Given the description of an element on the screen output the (x, y) to click on. 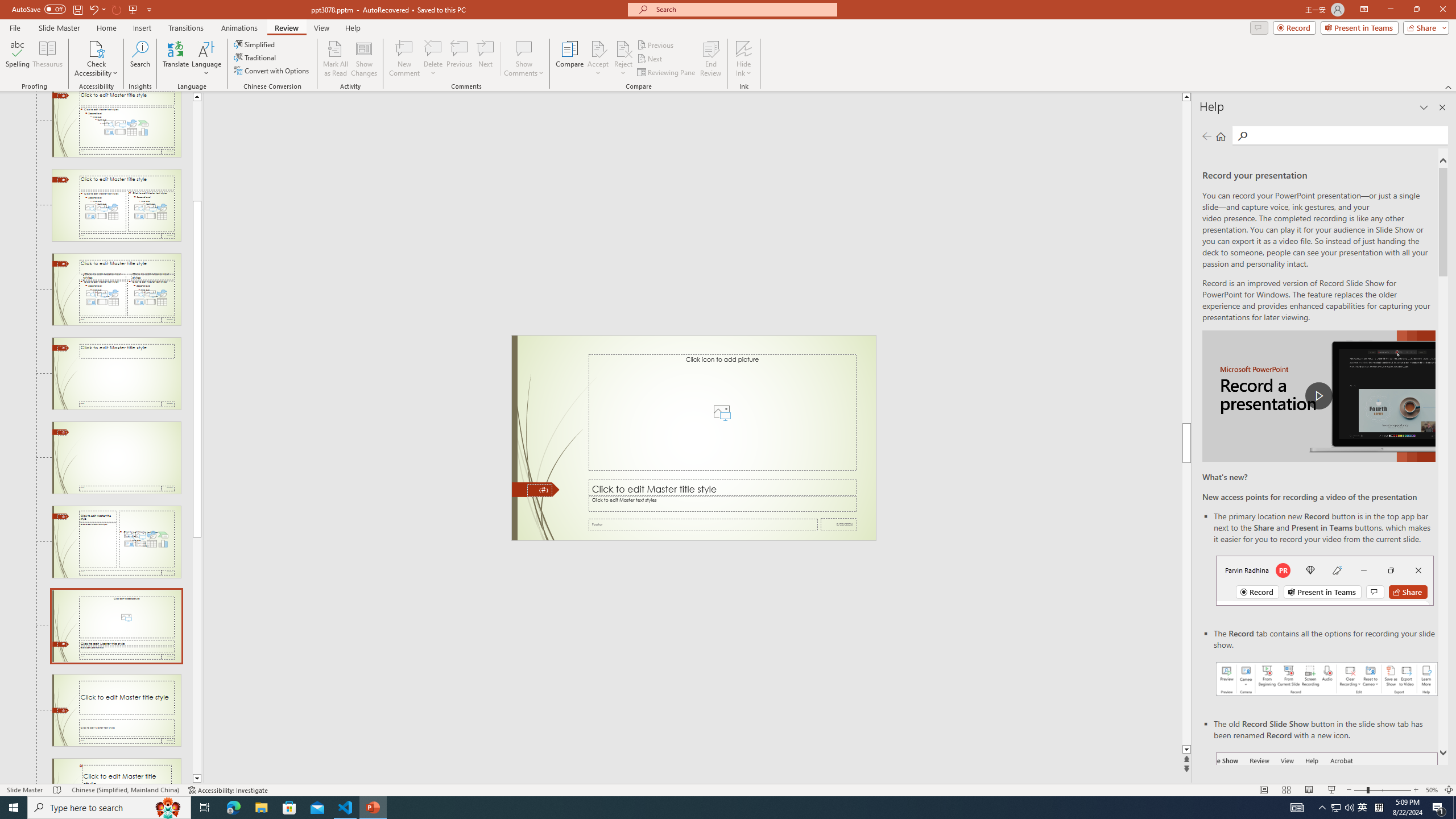
End Review (710, 58)
Slide Picture with Caption Layout: used by no slides (116, 625)
Simplified (254, 44)
Record button in top bar (1324, 580)
Zoom 50% (1431, 790)
